Given the description of an element on the screen output the (x, y) to click on. 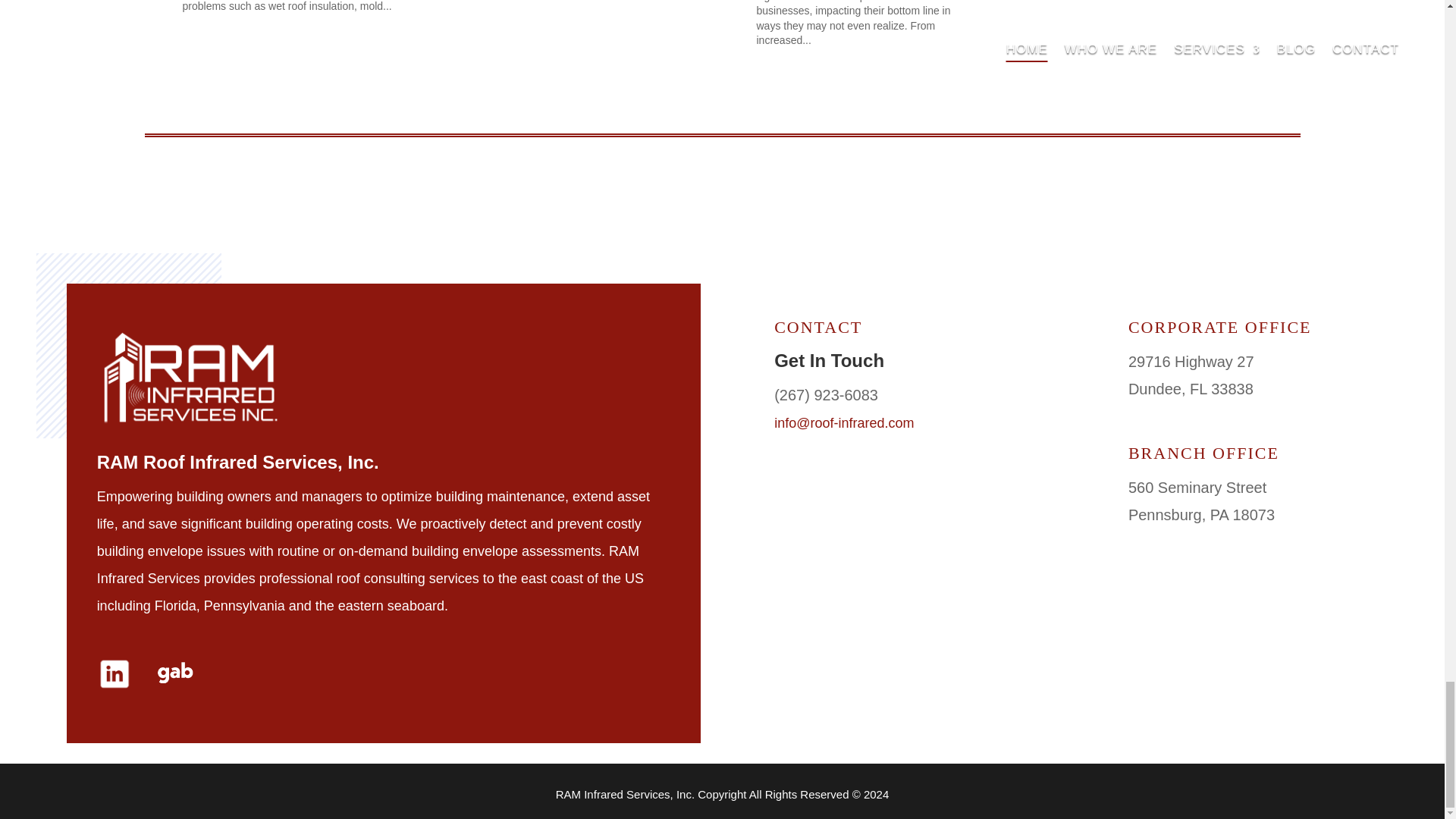
RAM-IR-logo-white (191, 379)
